Given the description of an element on the screen output the (x, y) to click on. 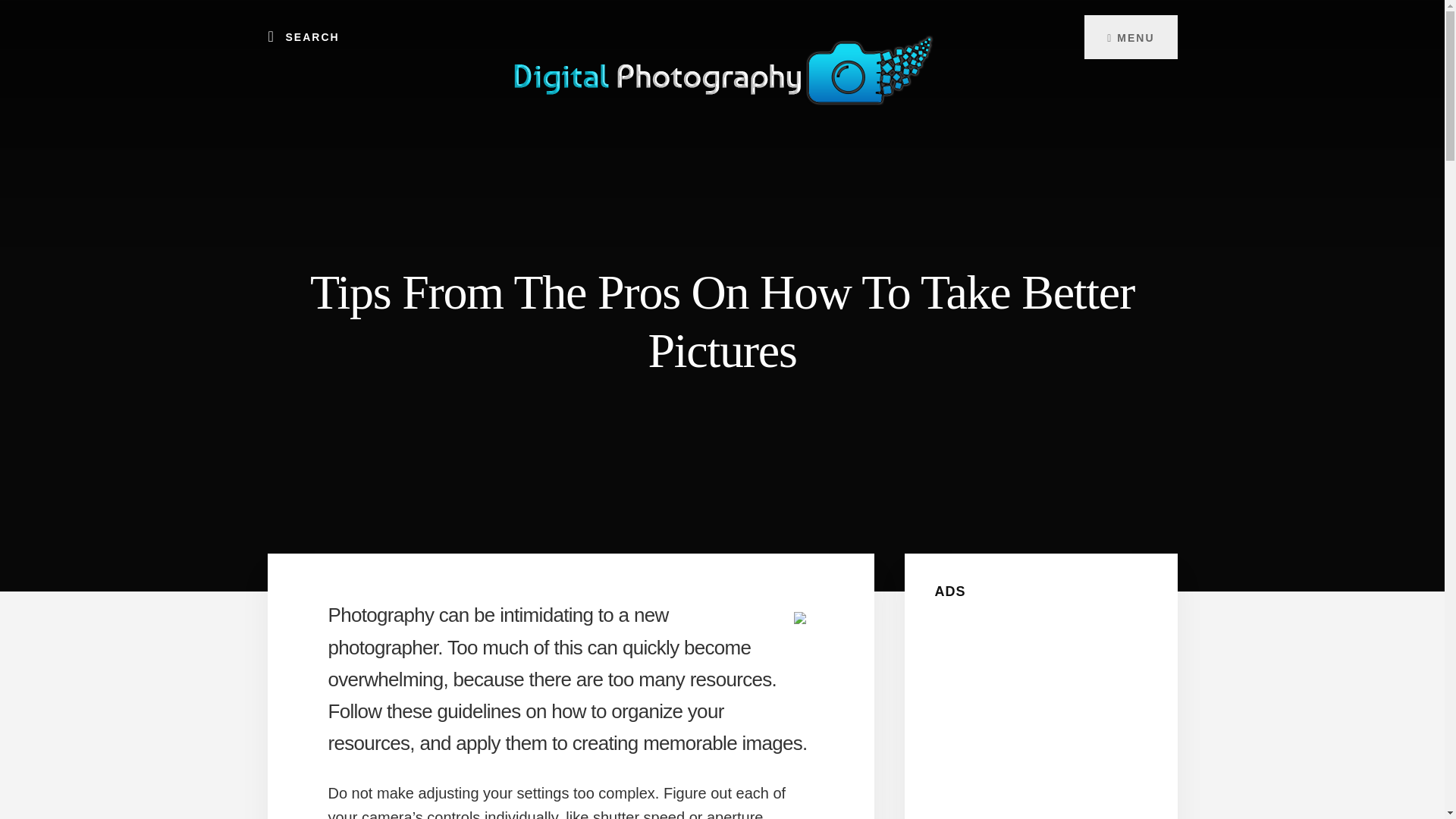
MENU (1130, 36)
